Given the description of an element on the screen output the (x, y) to click on. 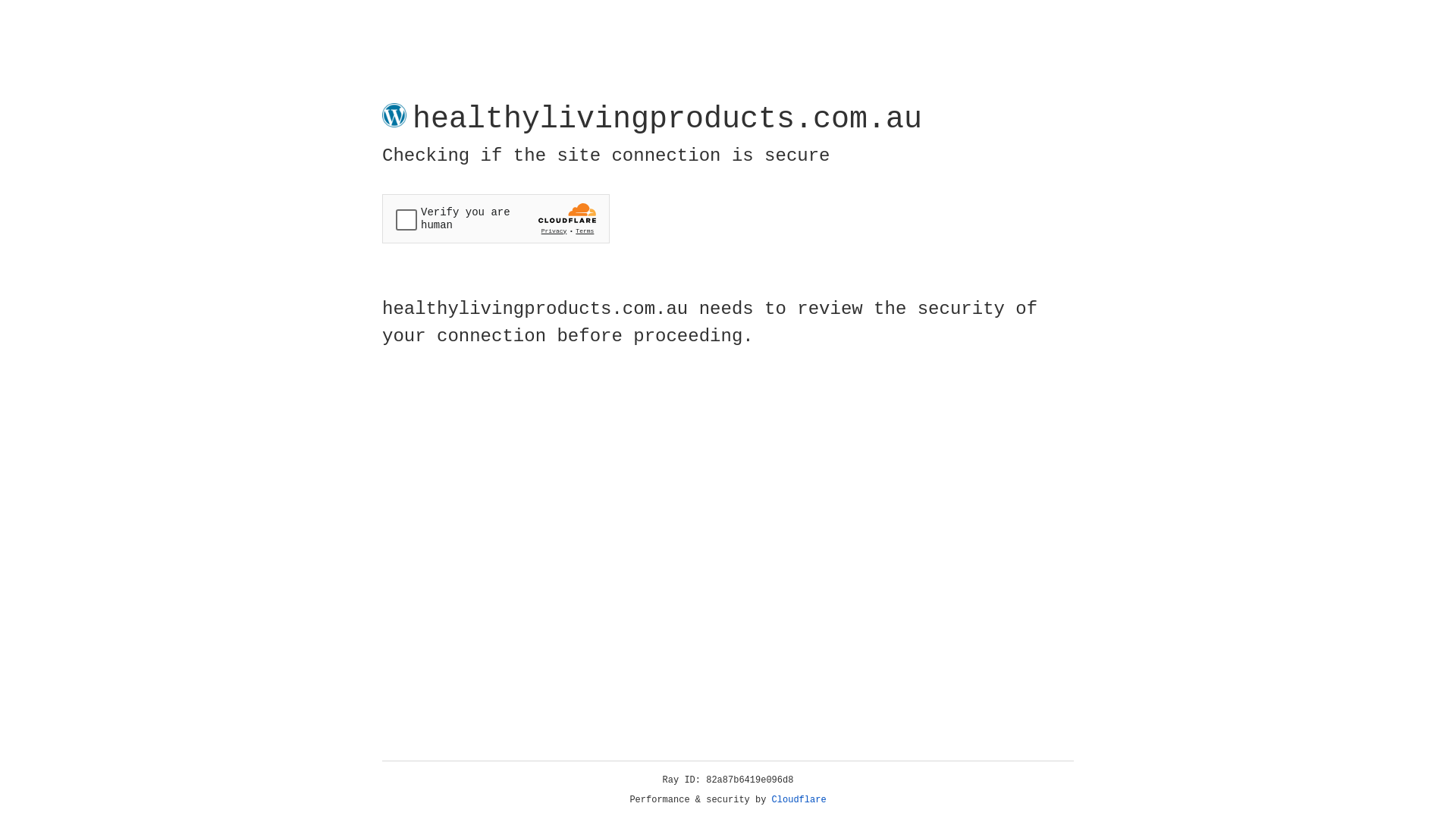
Widget containing a Cloudflare security challenge Element type: hover (495, 218)
Cloudflare Element type: text (798, 799)
